Given the description of an element on the screen output the (x, y) to click on. 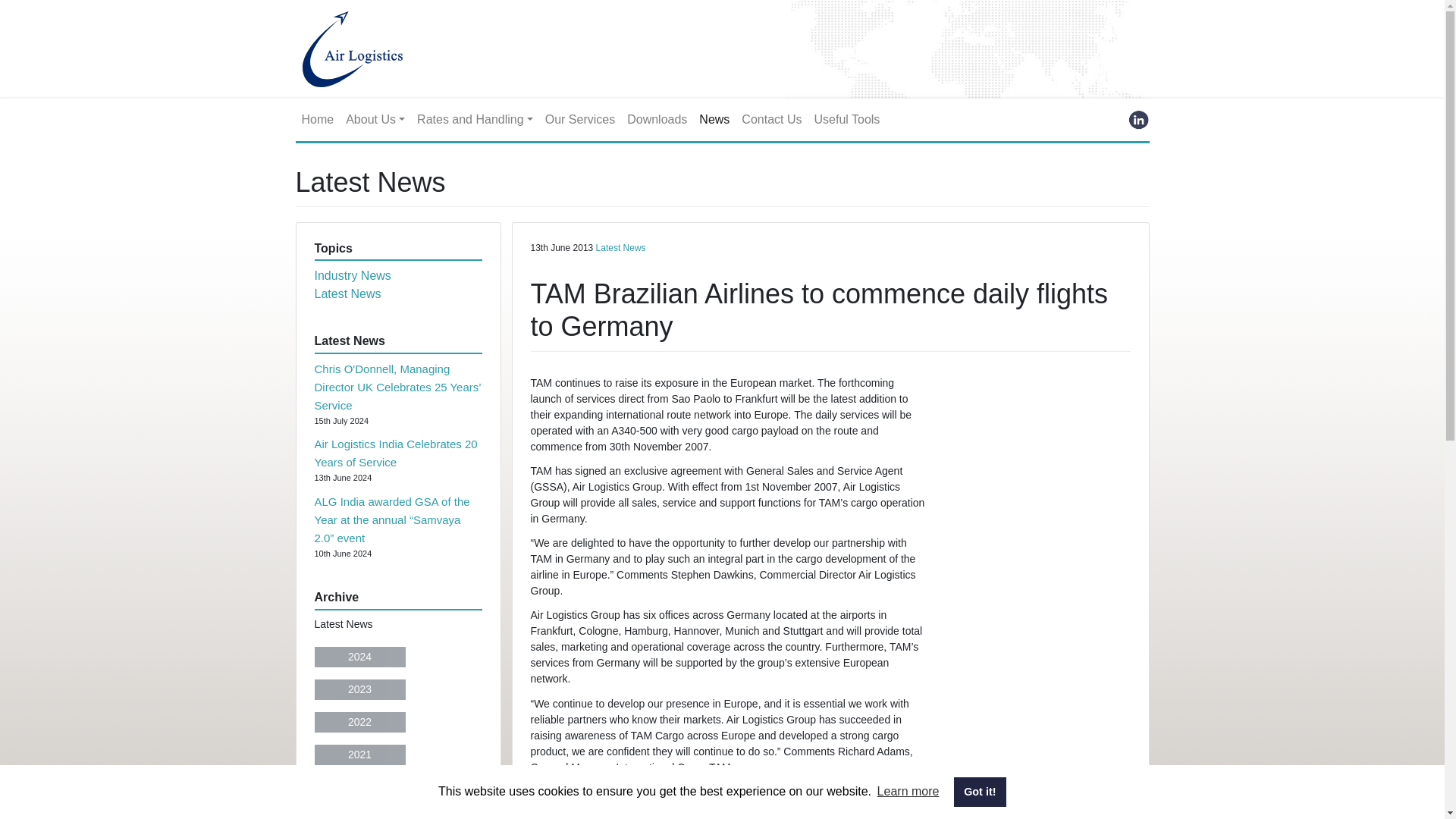
News (714, 119)
Learn more (907, 791)
Air Logistics India Celebrates 20 Years of Service (395, 452)
2024 (359, 657)
Downloads (657, 119)
2023 (359, 689)
Industry News (352, 275)
Latest News (347, 293)
Home (317, 119)
Rates and Handling (474, 119)
About Us (374, 119)
Contact Us (771, 119)
Useful Tools (846, 119)
Our Services (579, 119)
Got it! (979, 791)
